Given the description of an element on the screen output the (x, y) to click on. 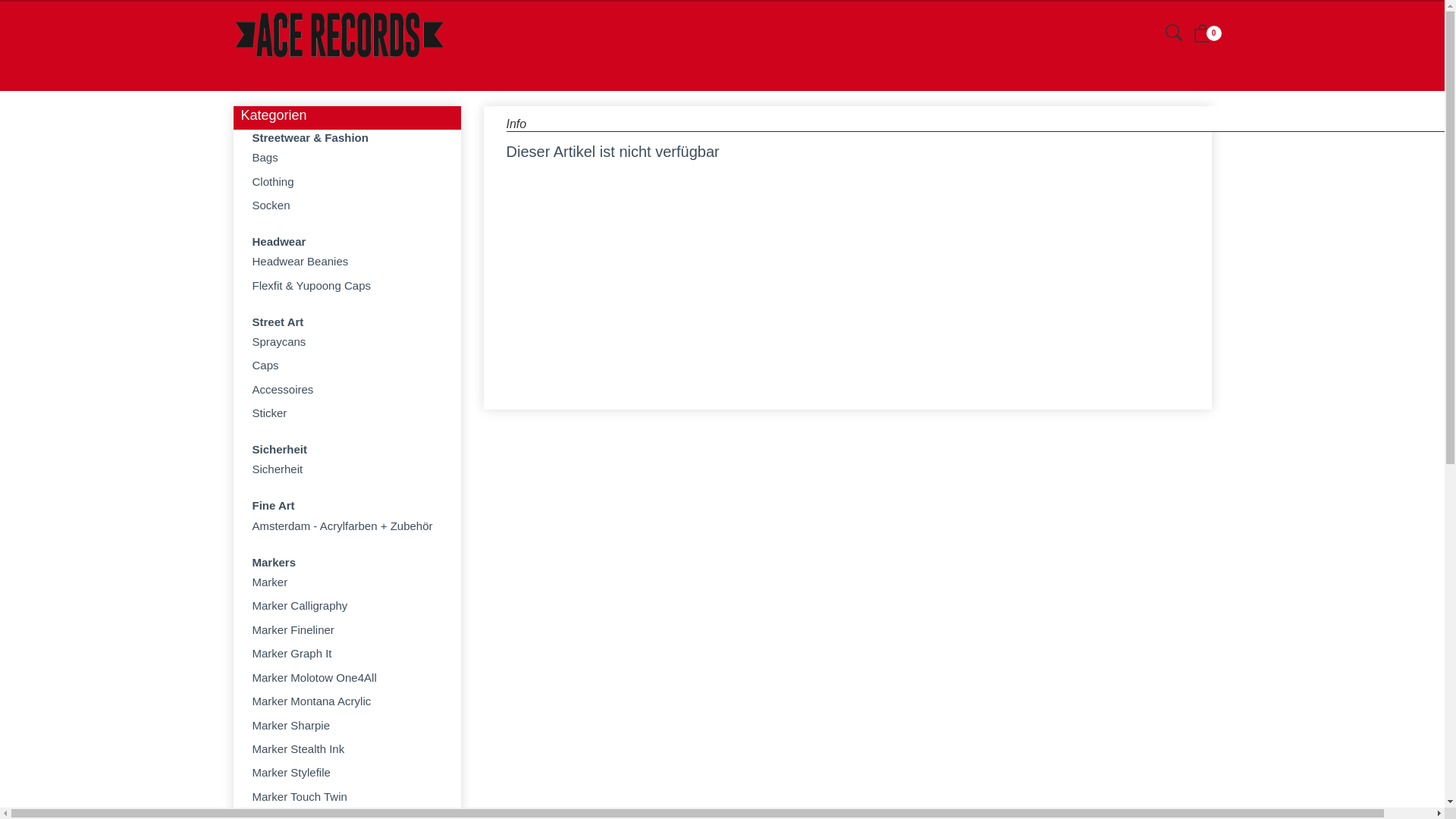
Marker Sharpie Element type: text (347, 725)
Marker Montana Acrylic Element type: text (347, 700)
0 Element type: text (1202, 36)
Marker Stealth Ink Element type: text (347, 748)
Marker Touch Twin Element type: text (347, 796)
Accessoires Element type: text (347, 389)
Clothing Element type: text (347, 181)
Sicherheit Element type: text (347, 468)
Headwear Beanies Element type: text (347, 261)
Marker Fineliner Element type: text (347, 629)
Spraycans Element type: text (347, 341)
Suche Element type: hover (1172, 34)
Flexfit & Yupoong Caps Element type: text (347, 285)
Marker Stylefile Element type: text (347, 772)
Marker Calligraphy Element type: text (347, 605)
Marker Element type: text (347, 581)
Marker Molotow One4All Element type: text (347, 677)
Bags Element type: text (347, 157)
Marker Graph It Element type: text (347, 653)
Sticker Element type: text (347, 412)
Caps Element type: text (347, 364)
Socken Element type: text (347, 204)
